Given the description of an element on the screen output the (x, y) to click on. 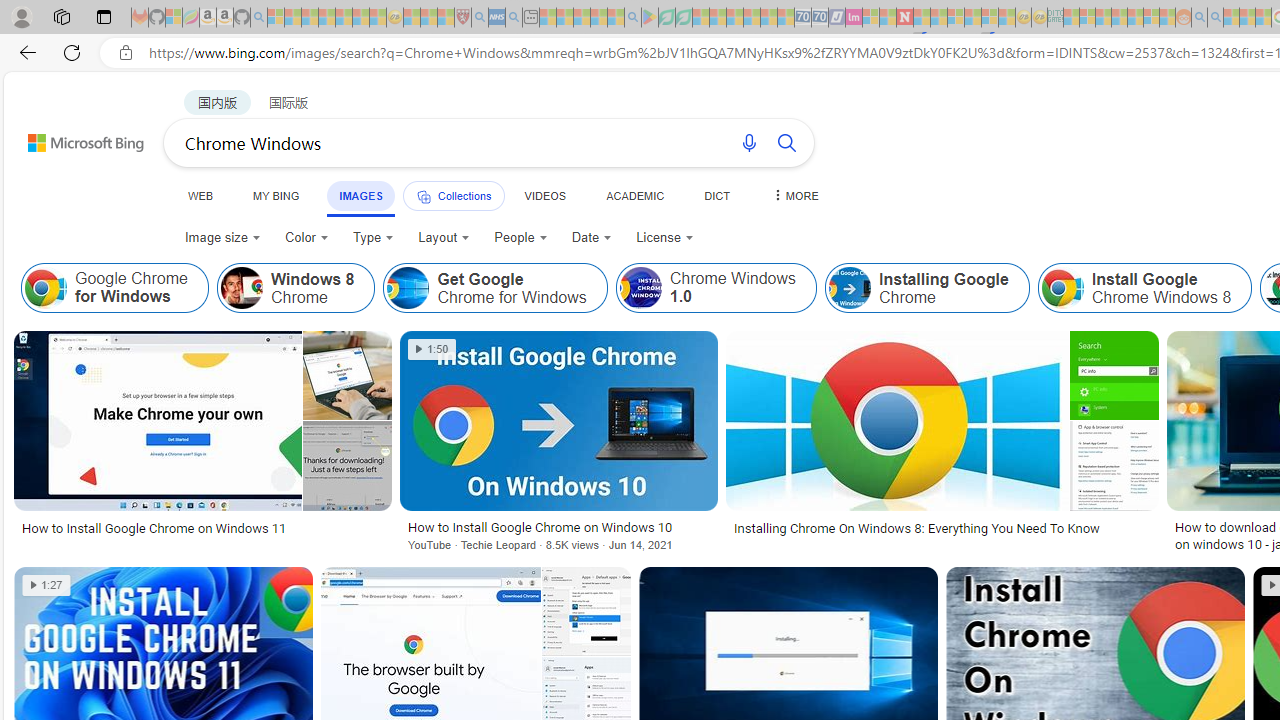
Microsoft Start - Sleeping (1231, 17)
Type (372, 237)
DICT (717, 195)
VIDEOS (545, 195)
Search using voice (748, 142)
The Weather Channel - MSN - Sleeping (309, 17)
google - Search - Sleeping (632, 17)
1:50 (432, 349)
Google Chrome for Windows (114, 287)
Image size (222, 237)
Get Google Chrome for Windows (495, 287)
